Given the description of an element on the screen output the (x, y) to click on. 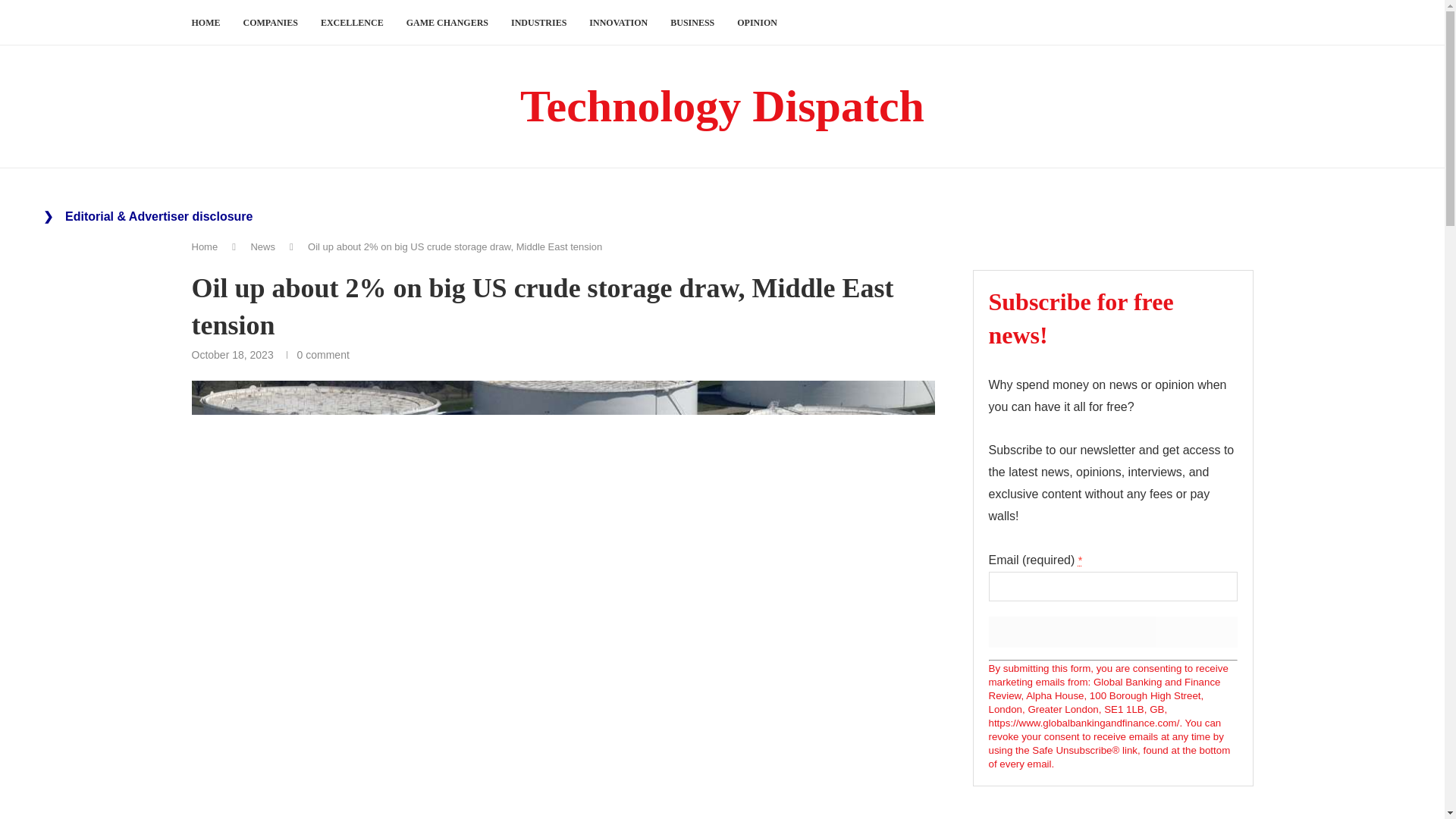
INDUSTRIES (538, 22)
BUSINESS (691, 22)
Sign up! (1112, 631)
INNOVATION (618, 22)
OPINION (756, 22)
Technology Dispatch (721, 106)
EXCELLENCE (352, 22)
GAME CHANGERS (446, 22)
COMPANIES (270, 22)
Home (203, 246)
News (262, 246)
